Given the description of an element on the screen output the (x, y) to click on. 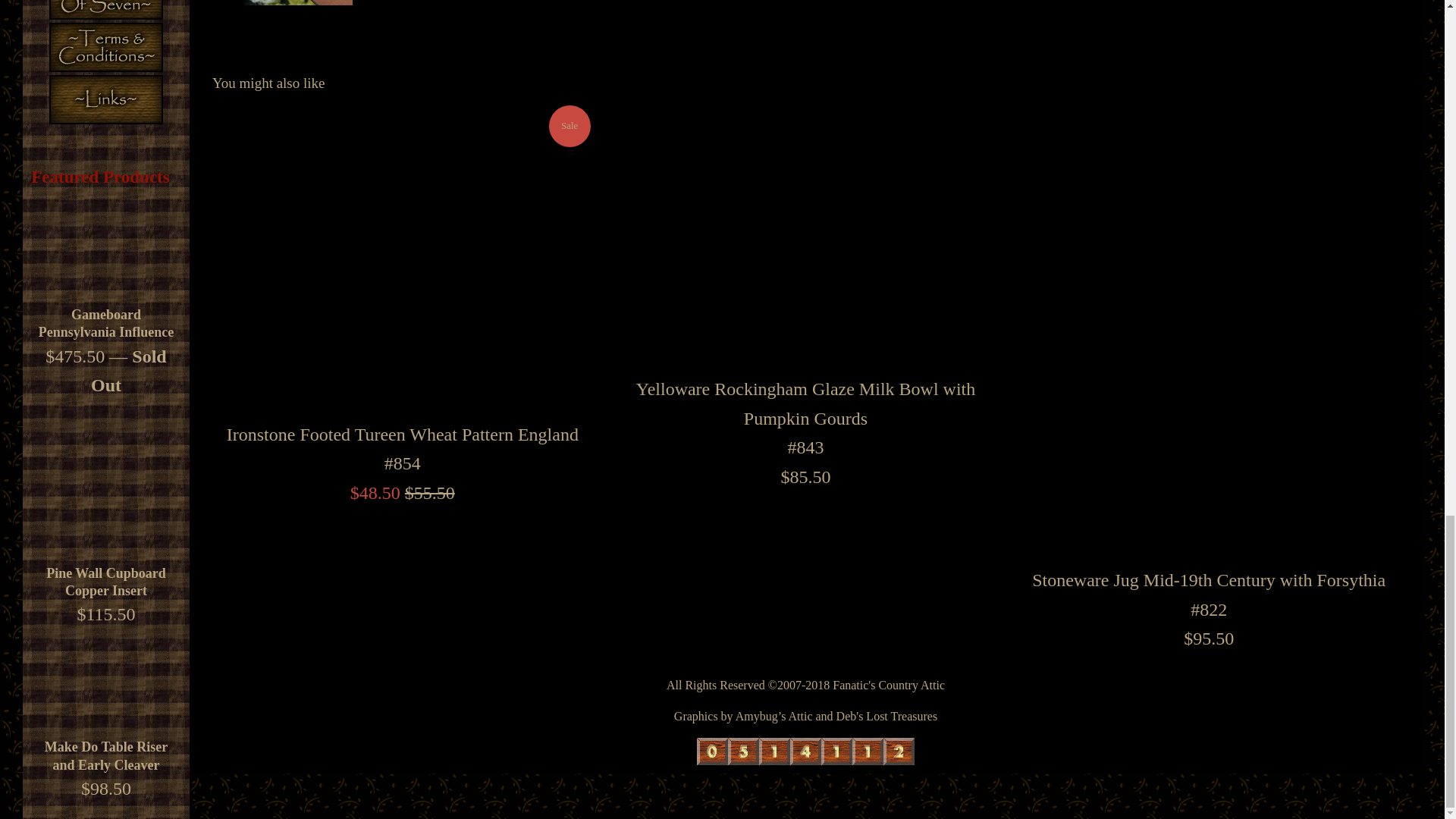
Ironstone Footed Tureen Wheat Pattern England (402, 257)
Make Do Table Riser and Early Cleaver (106, 755)
Make Do Table Riser and Early Cleaver (105, 680)
Gameboard Pennsylvania Influence (105, 248)
Gameboard Pennsylvania Influence (106, 323)
Yelloware Rockingham Glaze Milk Bowl with Pumpkin Gourds (805, 235)
Pine Wall Cupboard Copper Insert (105, 581)
Free Hit Counter (805, 750)
